Given the description of an element on the screen output the (x, y) to click on. 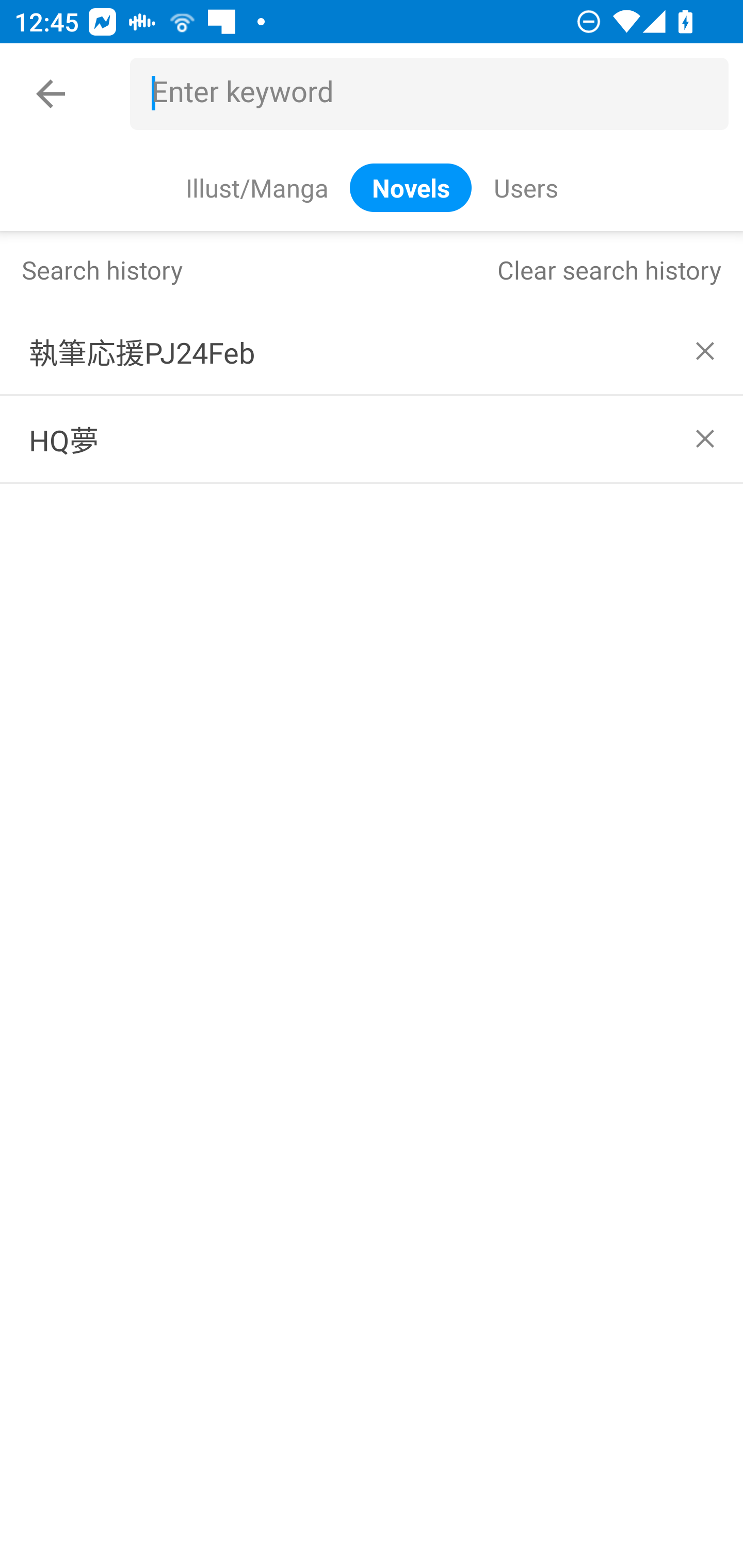
Navigate up (50, 93)
Enter keyword (436, 94)
Illust/Manga (256, 187)
Novels (410, 187)
Users (525, 187)
Clear search history (609, 269)
執筆応援PJ24Feb (371, 350)
HQ夢 (371, 438)
